Given the description of an element on the screen output the (x, y) to click on. 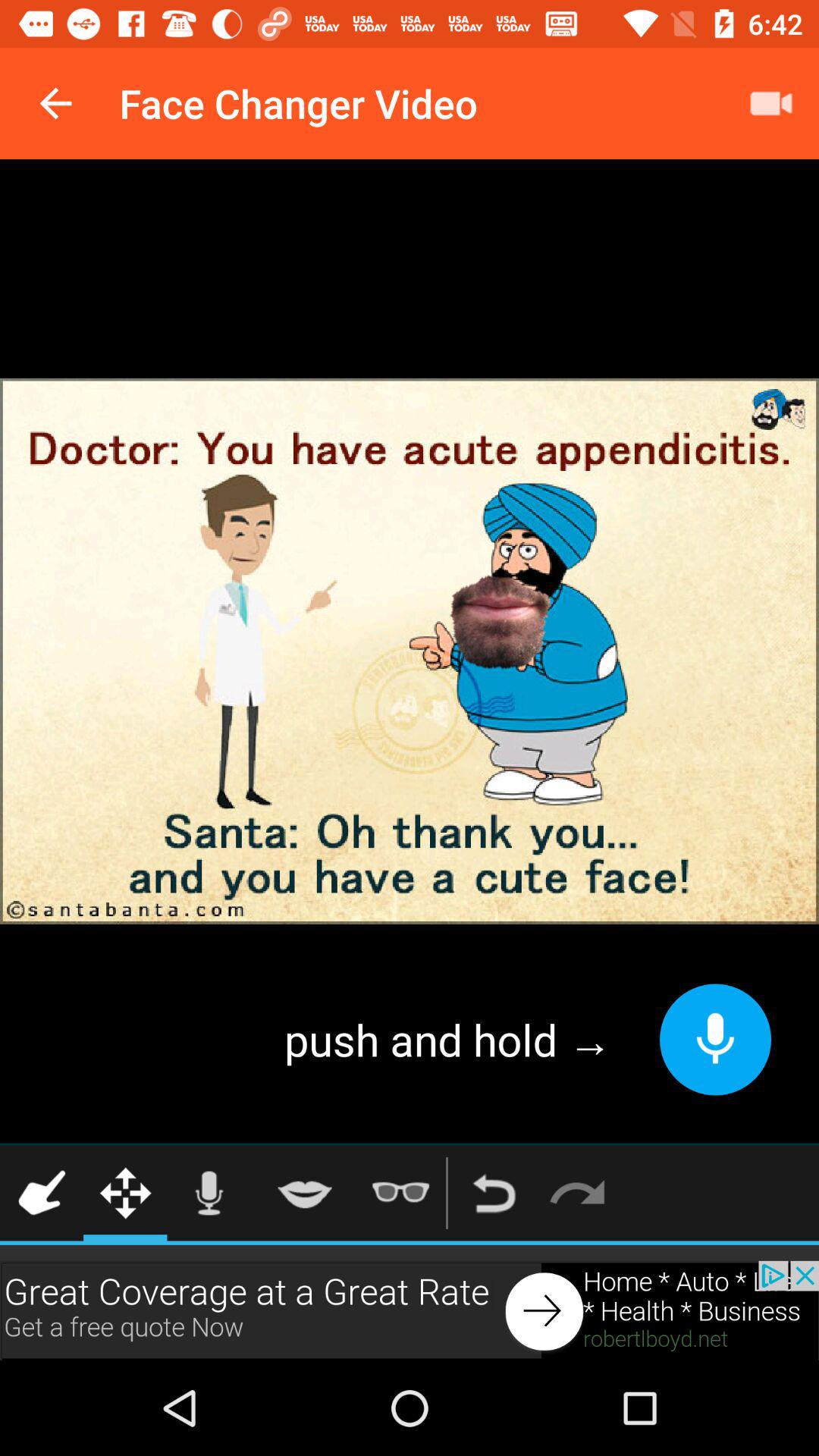
open advertisement (409, 1310)
